Given the description of an element on the screen output the (x, y) to click on. 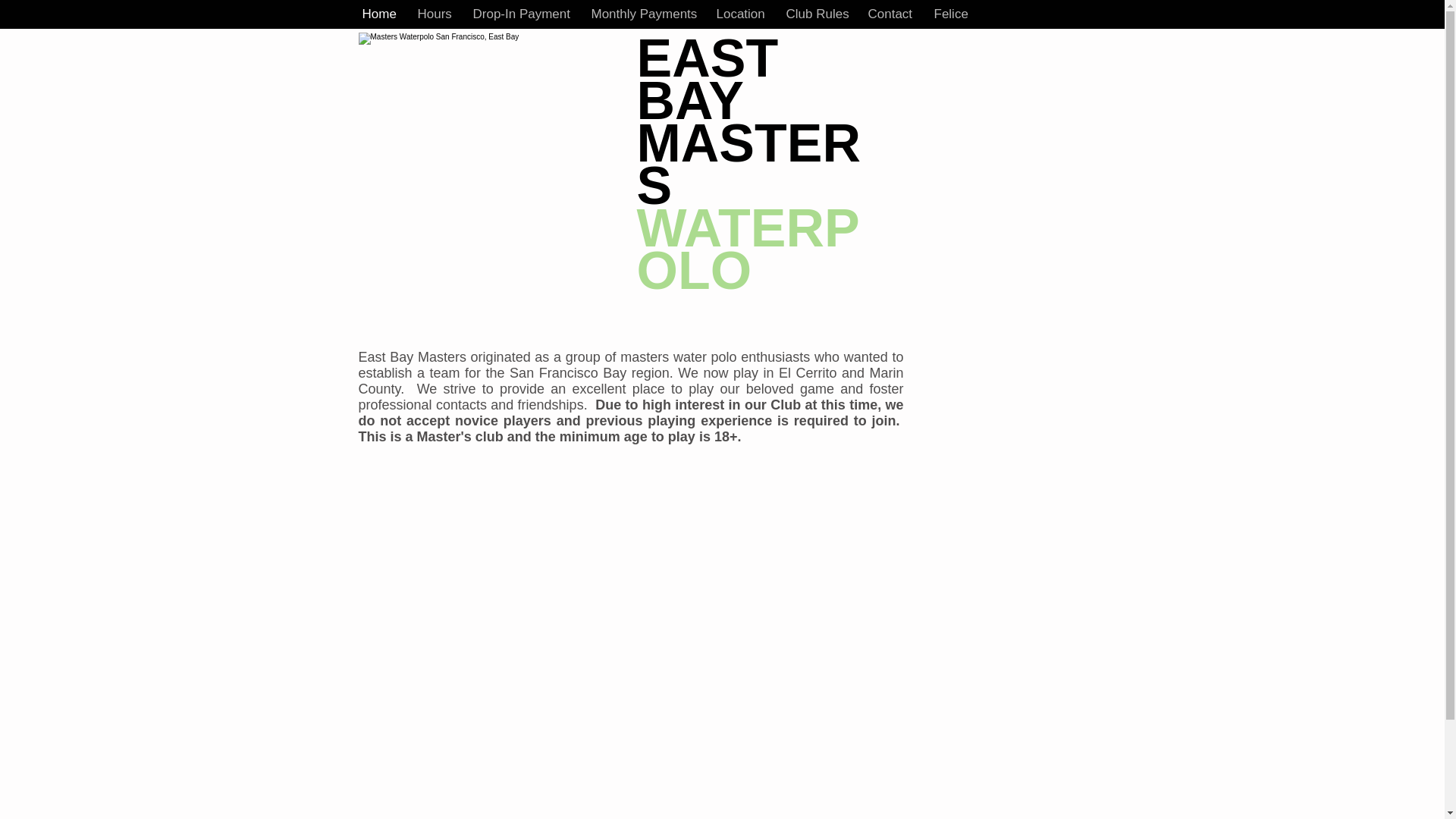
Home (378, 13)
Masters Waterpolo San Francisco, East Bay (492, 121)
Drop-In Payment (520, 13)
Club Rules (815, 13)
Monthly Payments (641, 13)
Felice (948, 13)
Hours (433, 13)
Contact (890, 13)
Location (739, 13)
